Given the description of an element on the screen output the (x, y) to click on. 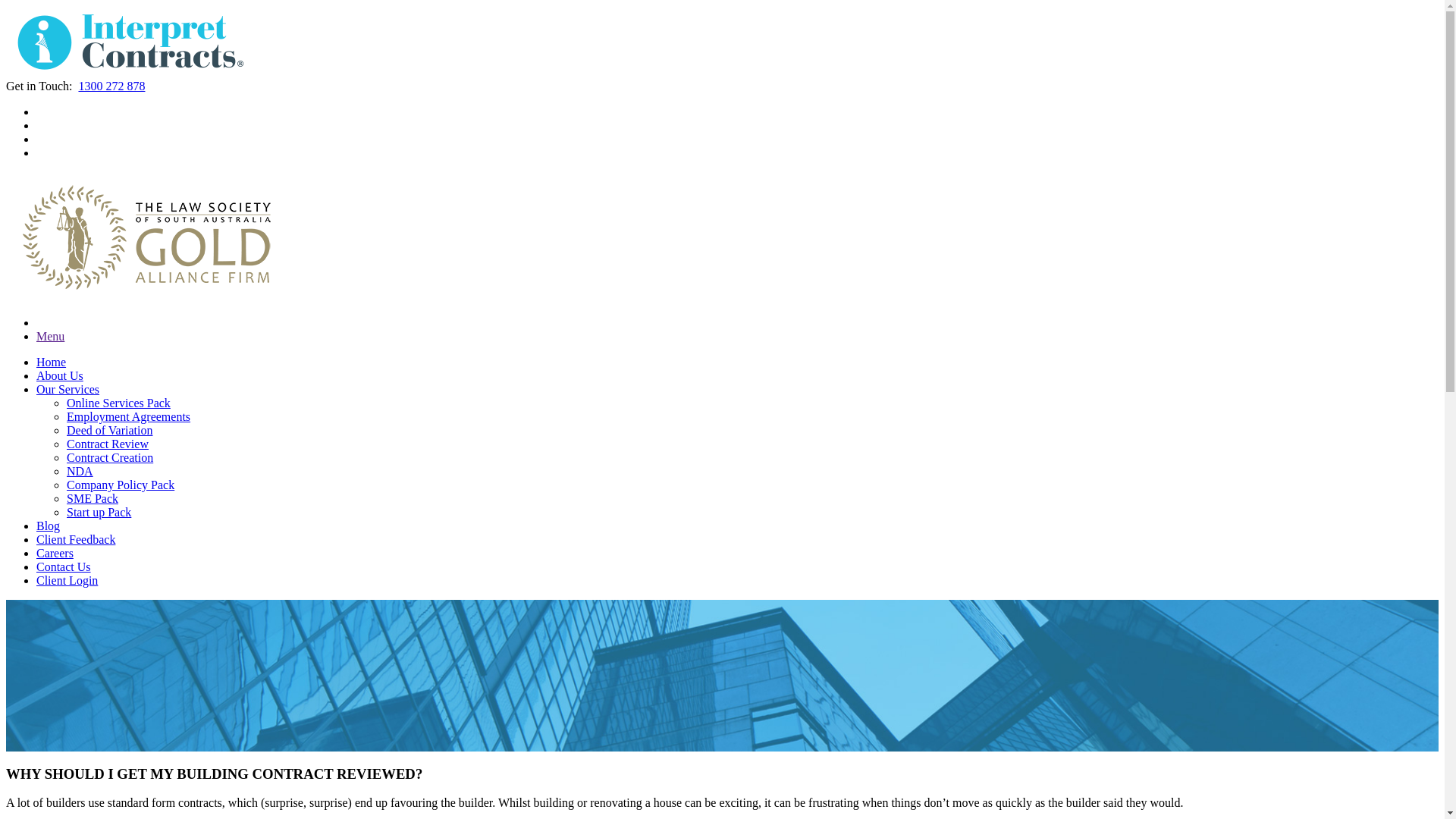
Employment Agreements Element type: text (128, 416)
About Us Element type: text (59, 375)
Contact Us Element type: text (63, 566)
1300 272 878 Element type: text (111, 85)
Online Services Pack Element type: text (118, 402)
Our Services Element type: text (67, 388)
Menu Element type: text (50, 335)
Blog Element type: text (47, 525)
Contract Creation Element type: text (109, 457)
Start up Pack Element type: text (98, 511)
Deed of Variation Element type: text (109, 429)
SME Pack Element type: text (92, 498)
Client Login Element type: text (66, 580)
Contract Review Element type: text (107, 443)
Careers Element type: text (54, 552)
Home Element type: text (50, 361)
Client Feedback Element type: text (75, 539)
NDA Element type: text (79, 470)
Company Policy Pack Element type: text (120, 484)
